Given the description of an element on the screen output the (x, y) to click on. 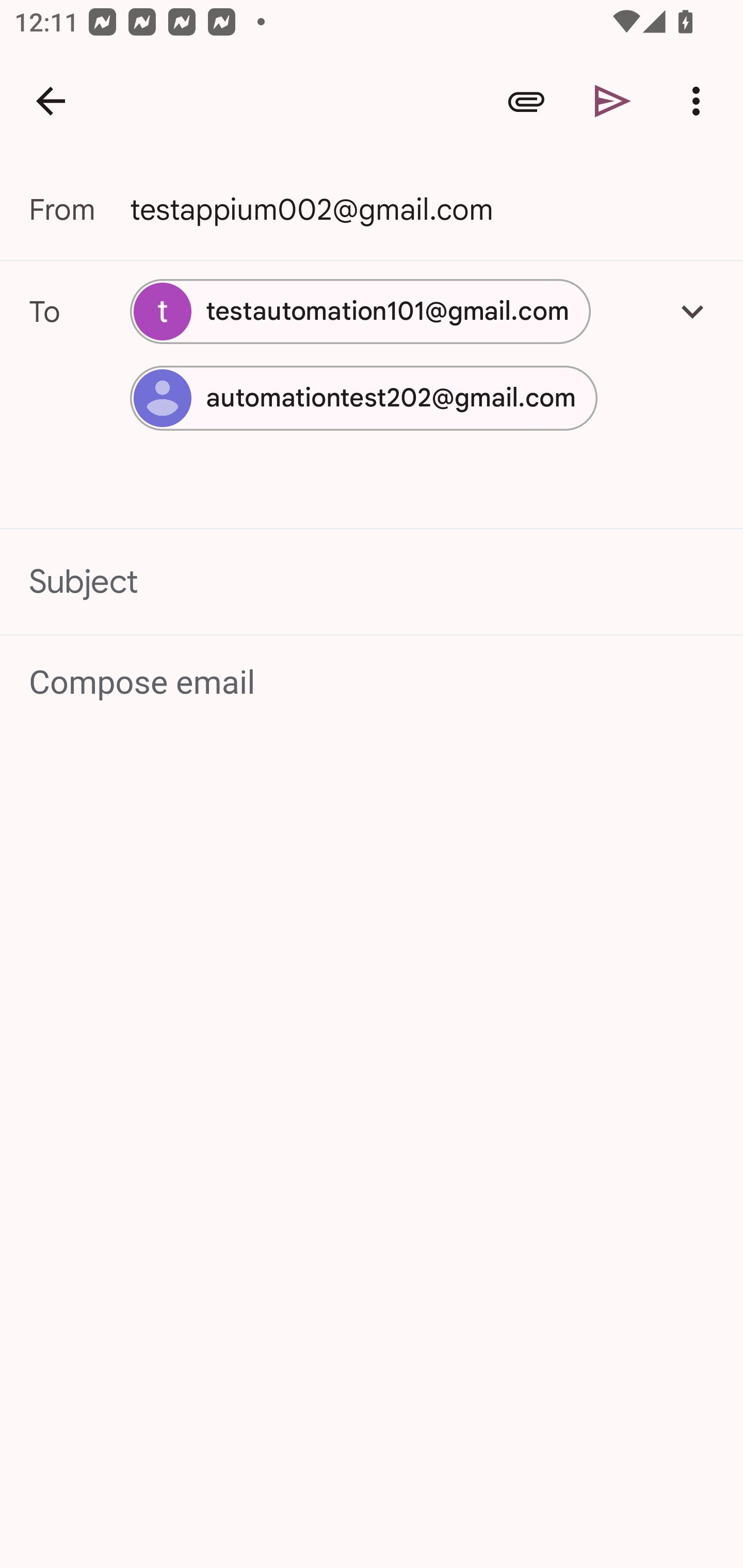
Navigate up (50, 101)
Attach file (525, 101)
Send (612, 101)
More options (699, 101)
From (79, 209)
Add Cc/Bcc (692, 311)
Subject (371, 582)
Compose email (372, 683)
